Given the description of an element on the screen output the (x, y) to click on. 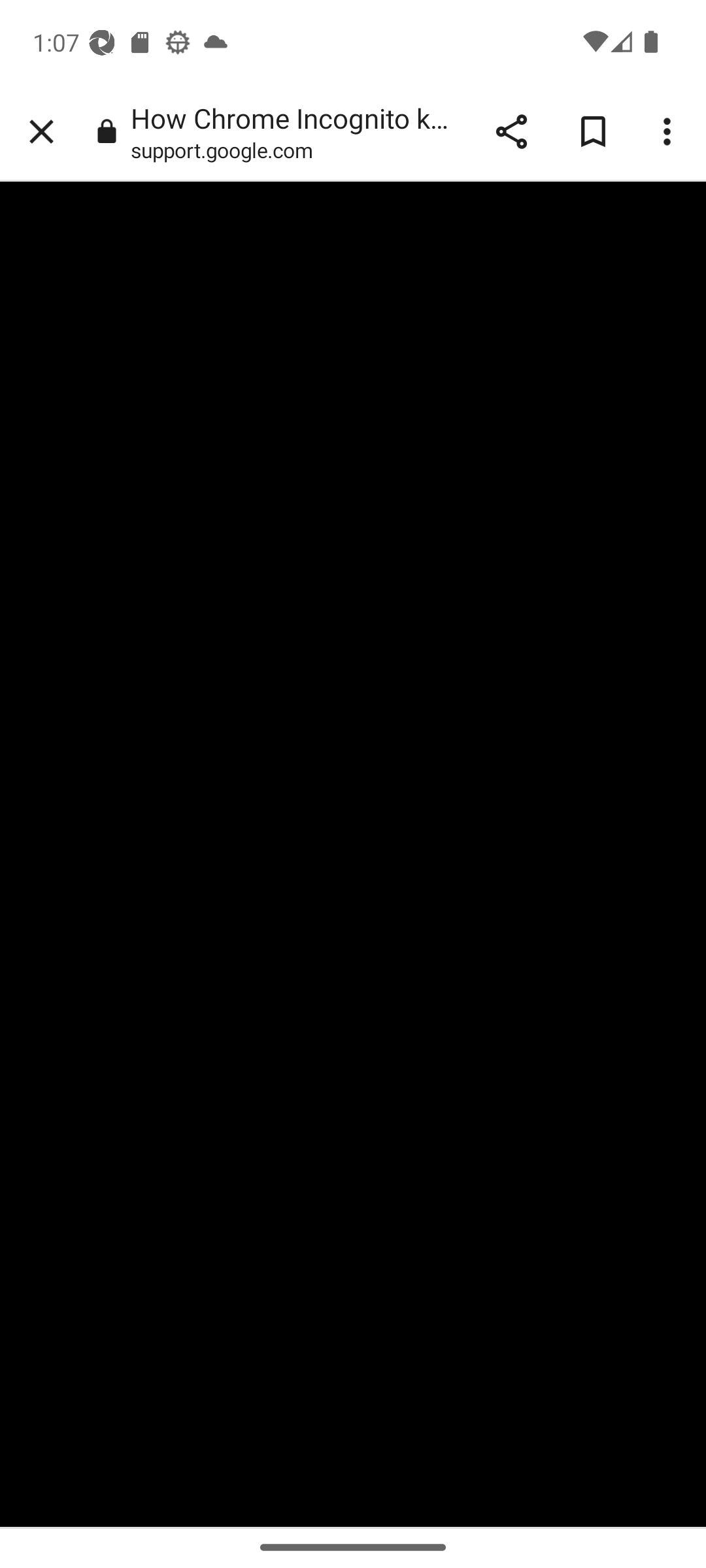
Close tab (41, 131)
Share link (511, 131)
Add to collection (592, 131)
More options (669, 131)
Connection is secure (106, 131)
support.google.com (228, 150)
